Given the description of an element on the screen output the (x, y) to click on. 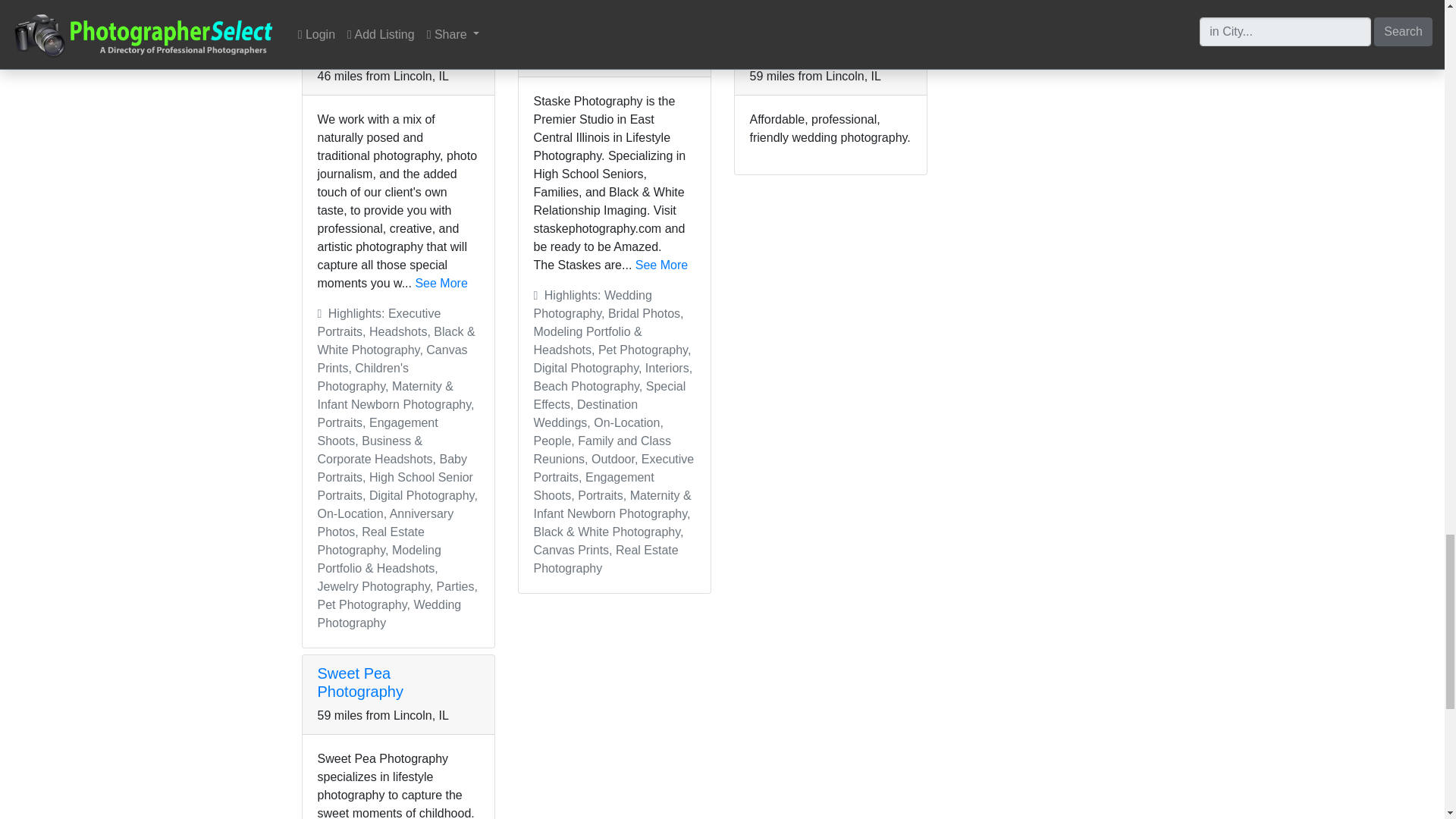
Sweet Pea Photography (360, 682)
Ghent's Wedding Photography (806, 42)
See More (660, 264)
Staske Photography (601, 33)
See More (440, 282)
